Given the description of an element on the screen output the (x, y) to click on. 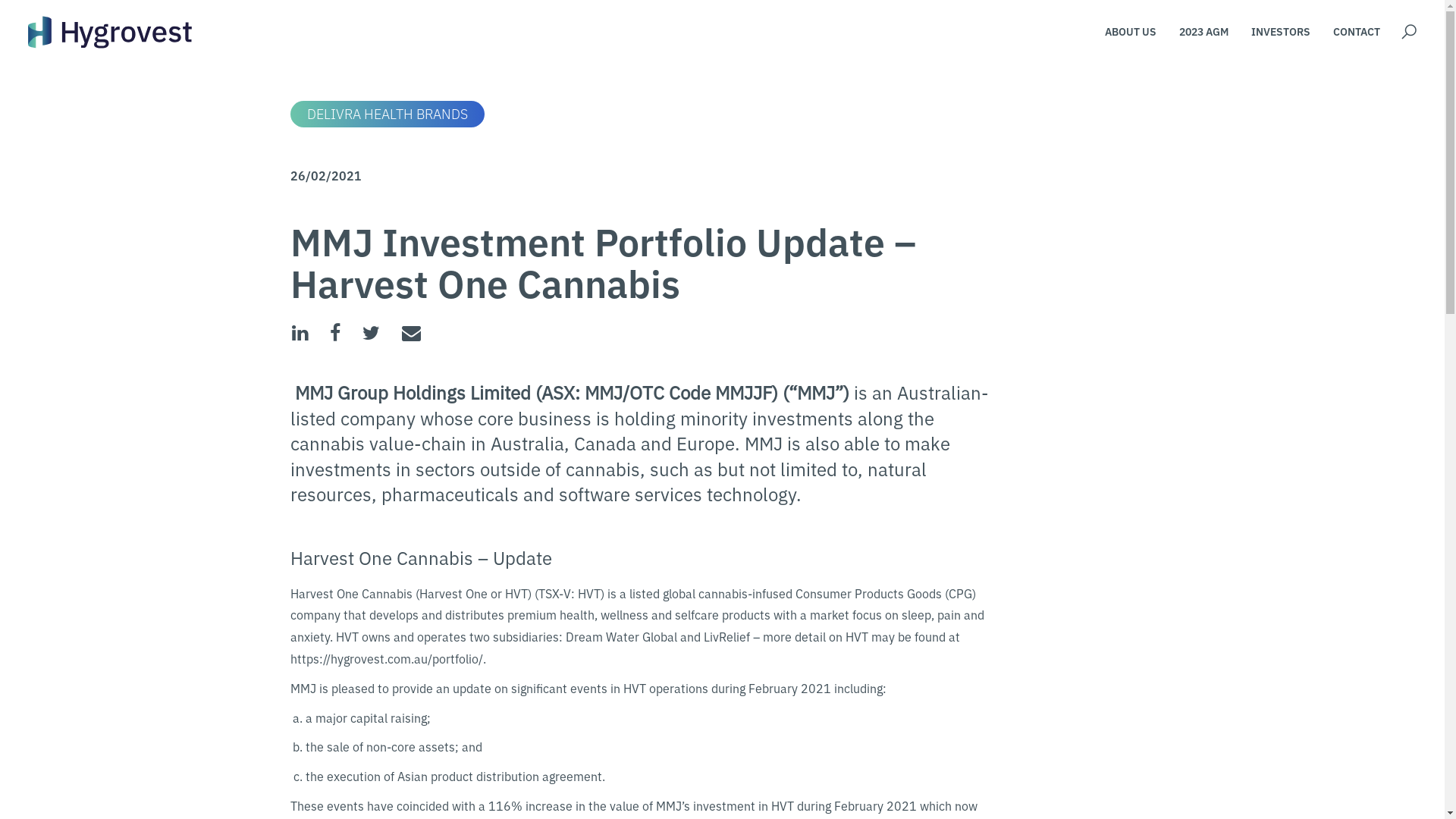
2023 AGM Element type: text (1203, 31)
ABOUT US Element type: text (1130, 31)
CONTACT Element type: text (1356, 31)
INVESTORS Element type: text (1280, 31)
